Given the description of an element on the screen output the (x, y) to click on. 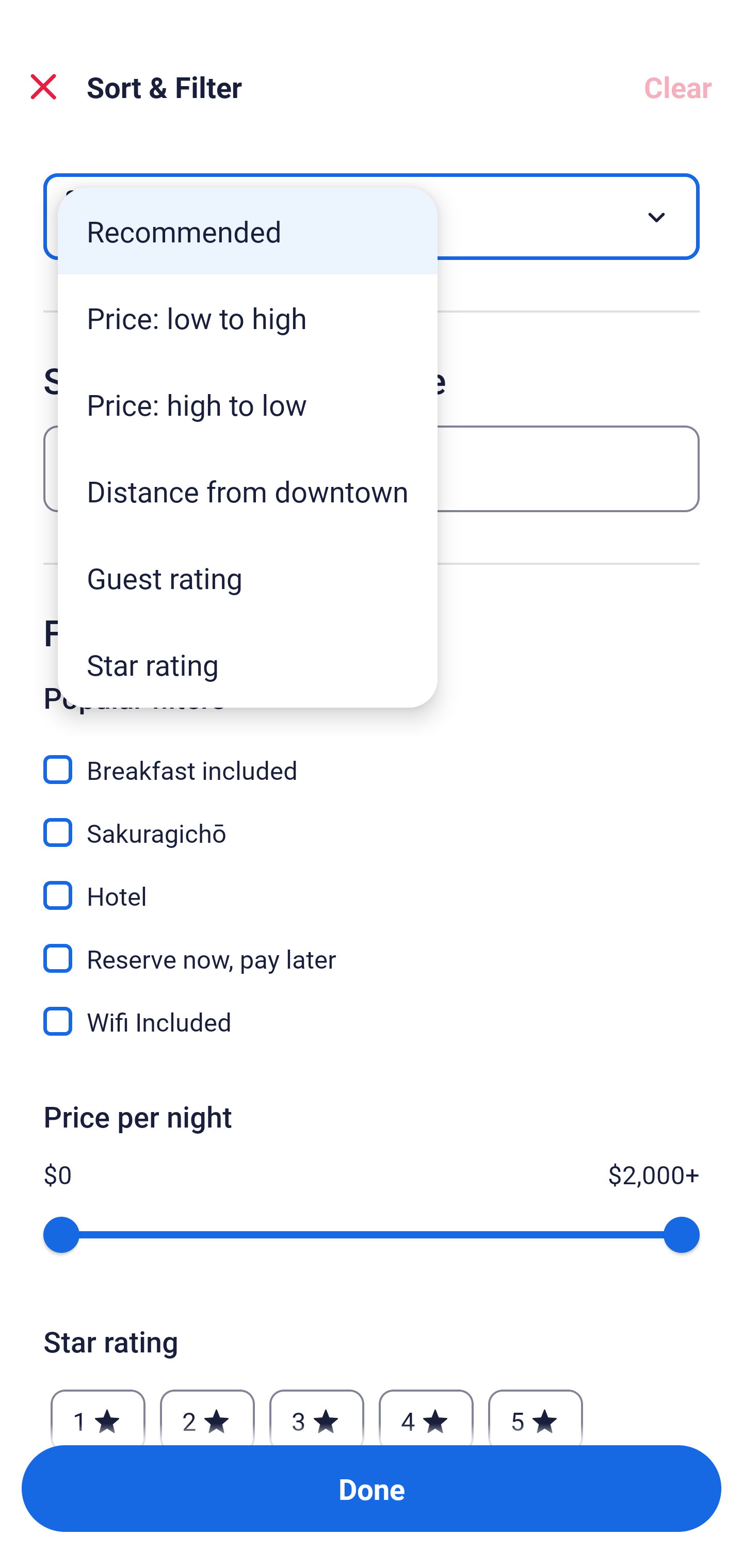
Price: low to high (247, 317)
Price: high to low (247, 404)
Distance from downtown (247, 491)
Guest rating (247, 577)
Star rating (247, 663)
